Given the description of an element on the screen output the (x, y) to click on. 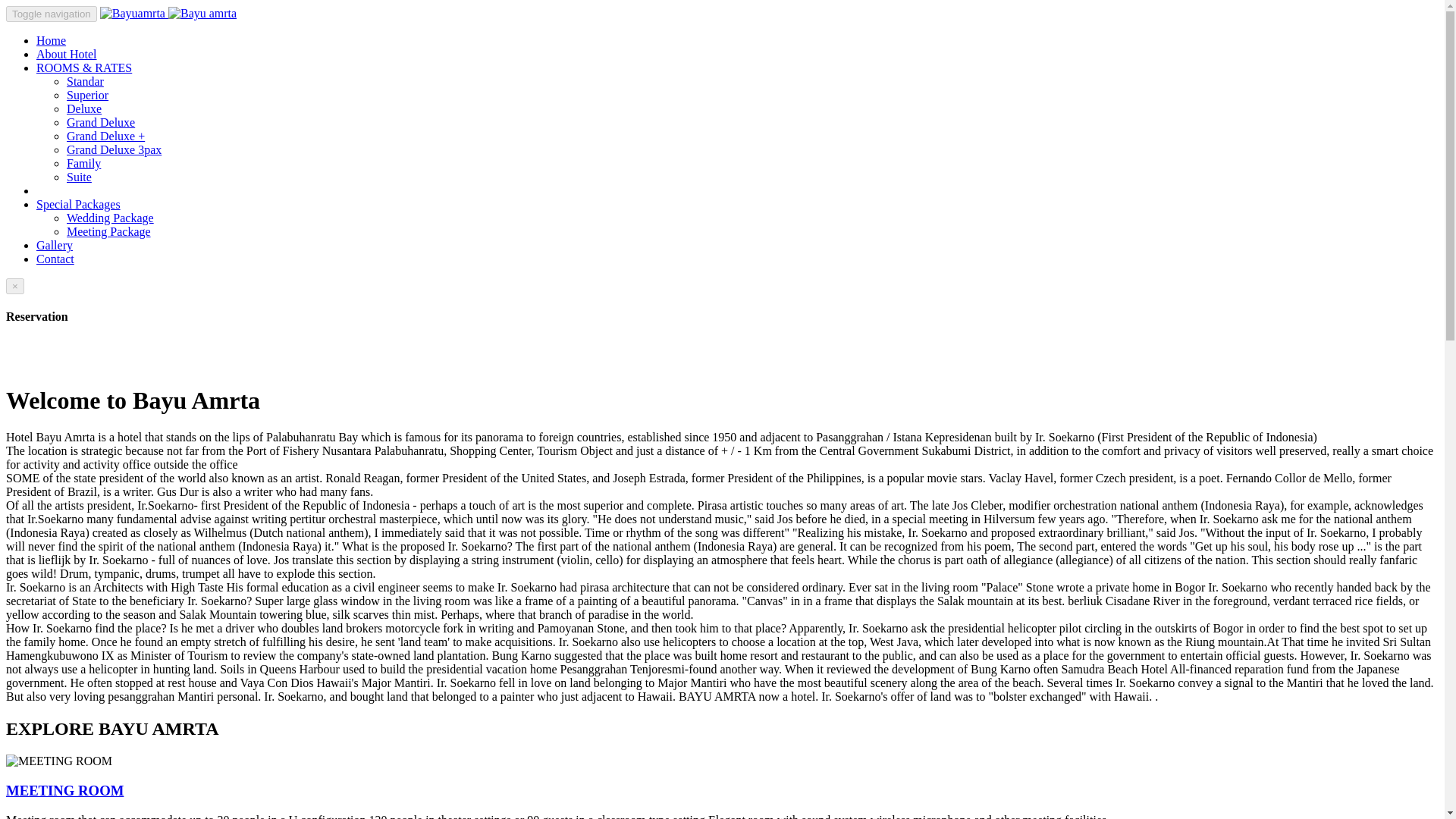
Gallery (54, 245)
Grand Deluxe 3pax (113, 149)
Family (83, 163)
Grand Deluxe (100, 122)
Suite (78, 176)
Special Packages (78, 204)
Standar (84, 81)
Superior (86, 94)
MEETING ROOM (64, 790)
Standar (84, 81)
